Given the description of an element on the screen output the (x, y) to click on. 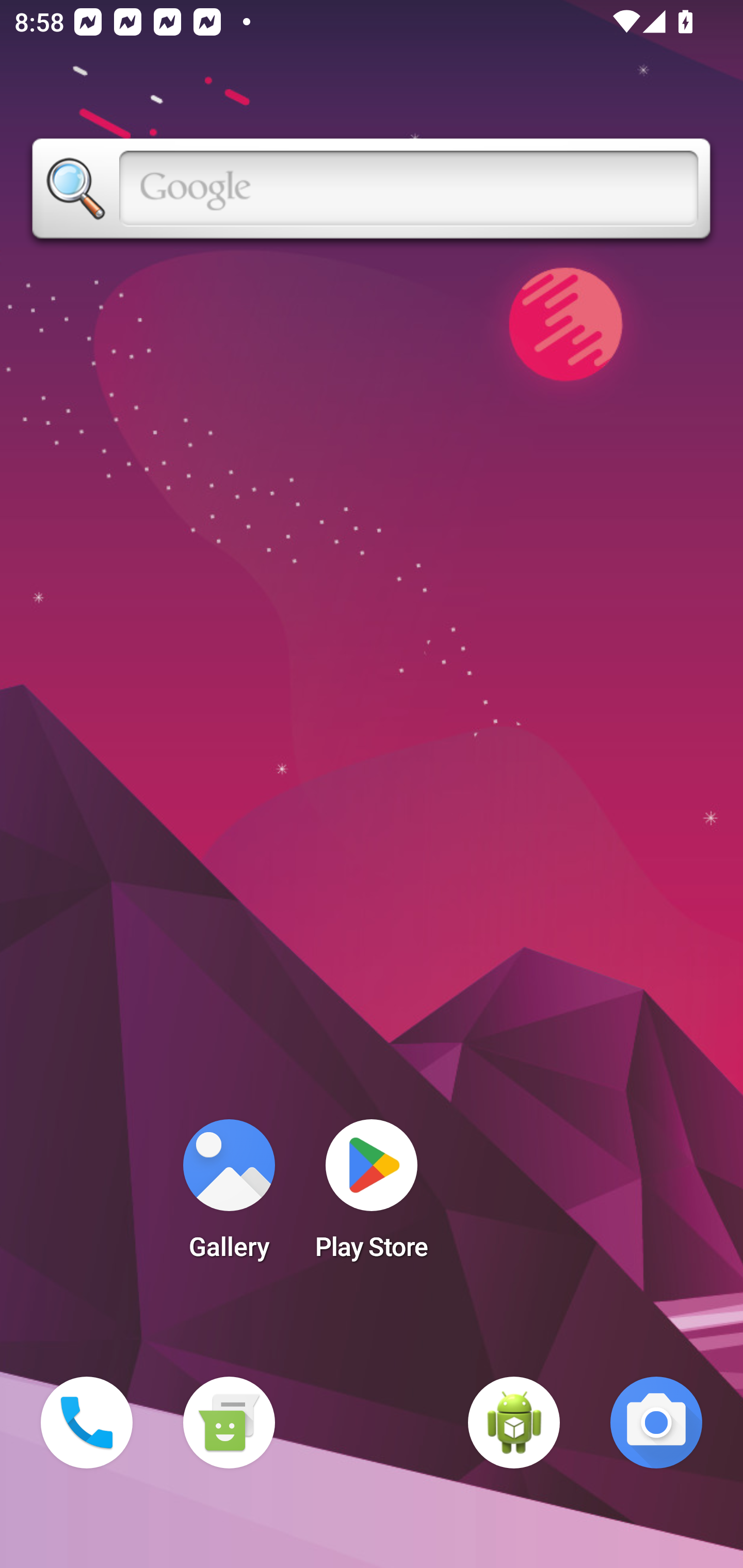
Gallery (228, 1195)
Play Store (371, 1195)
Phone (86, 1422)
Messaging (228, 1422)
WebView Browser Tester (513, 1422)
Camera (656, 1422)
